Given the description of an element on the screen output the (x, y) to click on. 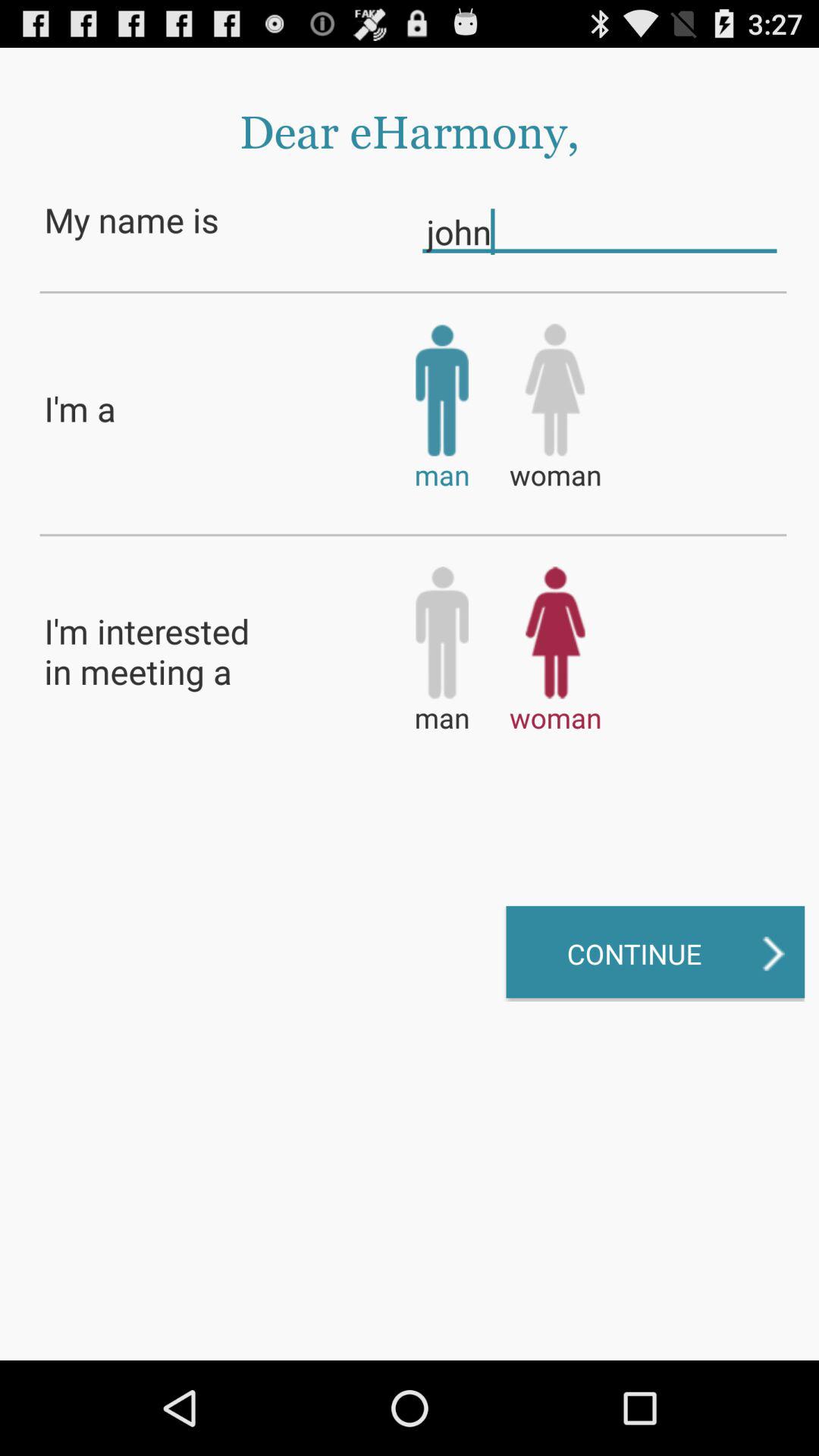
turn on the item to the right of the my name is (599, 231)
